Given the description of an element on the screen output the (x, y) to click on. 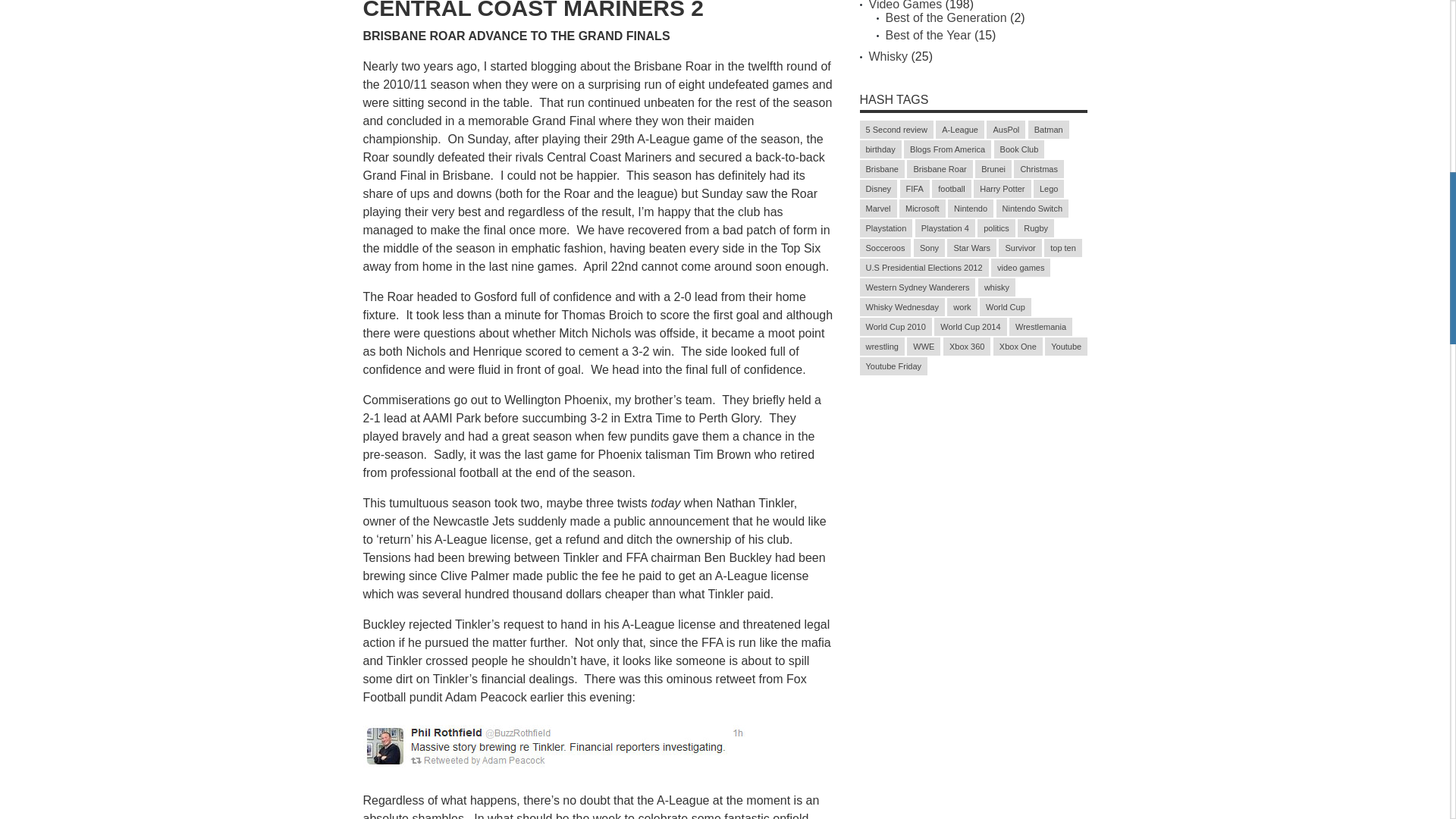
tinklertweet (553, 746)
